Given the description of an element on the screen output the (x, y) to click on. 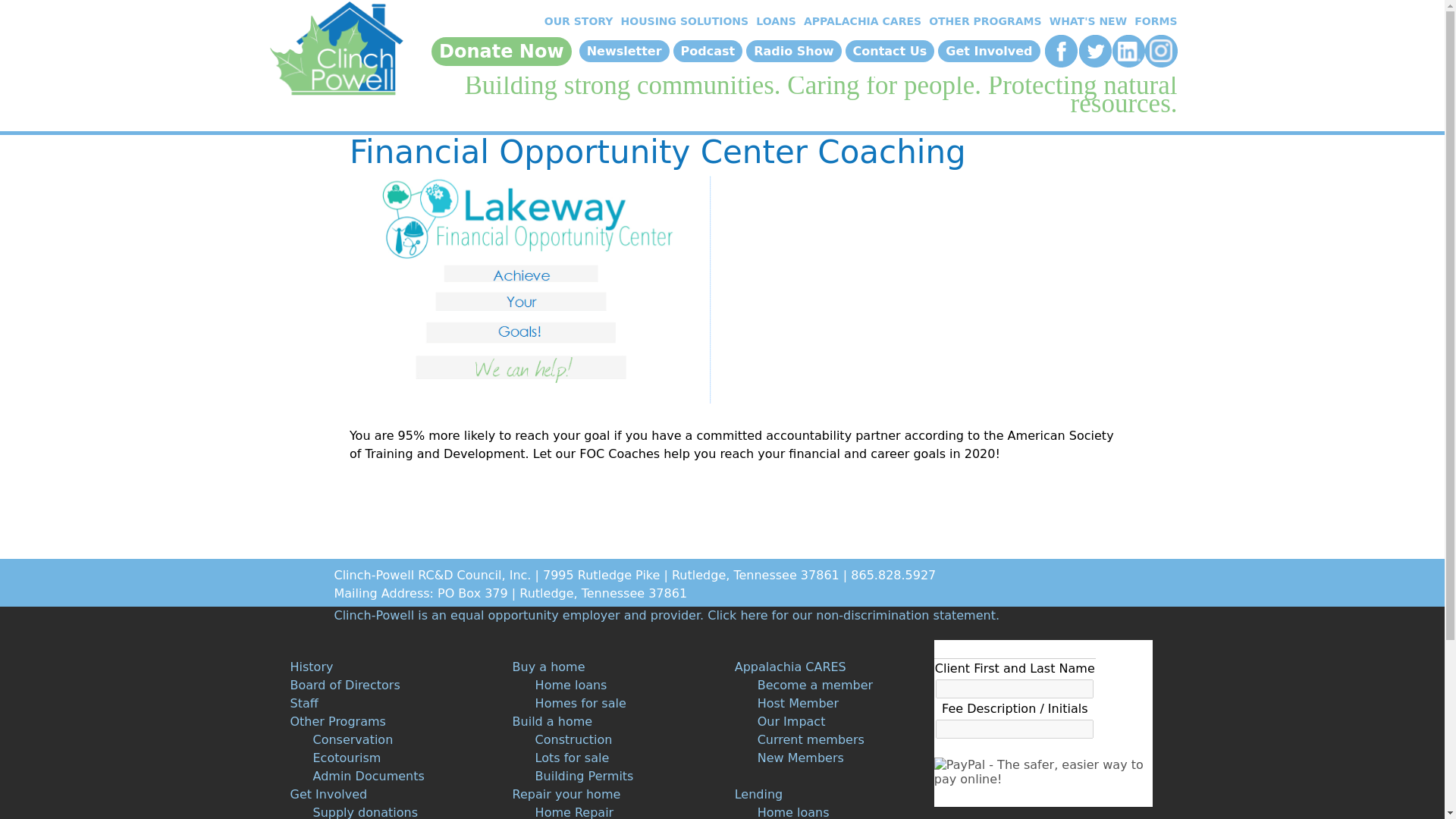
Contact Us (889, 51)
Staff (303, 703)
OUR STORY (576, 21)
WHAT'S NEW (1085, 21)
Home loans (571, 685)
Podcast (707, 51)
Radio Show (793, 51)
OTHER PROGRAMS (982, 21)
Lots for sale (572, 757)
Board of Directors (343, 685)
History (311, 667)
Homes for sale (580, 703)
Admin Documents (368, 775)
Donate Now (501, 51)
